Given the description of an element on the screen output the (x, y) to click on. 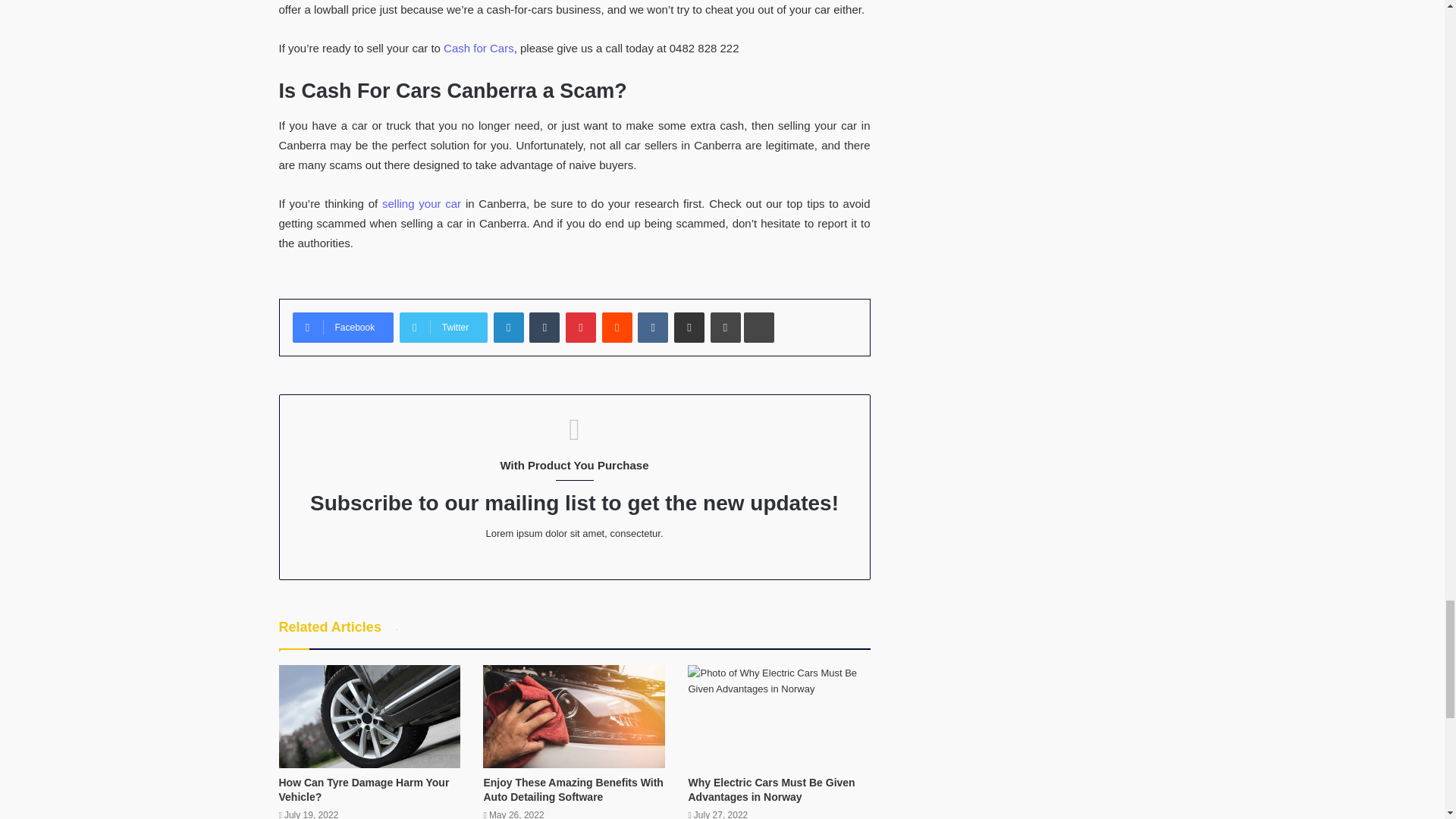
Reddit (616, 327)
Print (725, 327)
Why Electric Cars Must Be Given Advantages in Norway (770, 789)
Facebook (343, 327)
Share via Email (689, 327)
Facebook (343, 327)
Cash for Cars (478, 47)
Twitter (442, 327)
Print (725, 327)
Tumblr (544, 327)
LinkedIn (508, 327)
Share via Email (689, 327)
Tumblr (544, 327)
Pinterest (580, 327)
LinkedIn (508, 327)
